Given the description of an element on the screen output the (x, y) to click on. 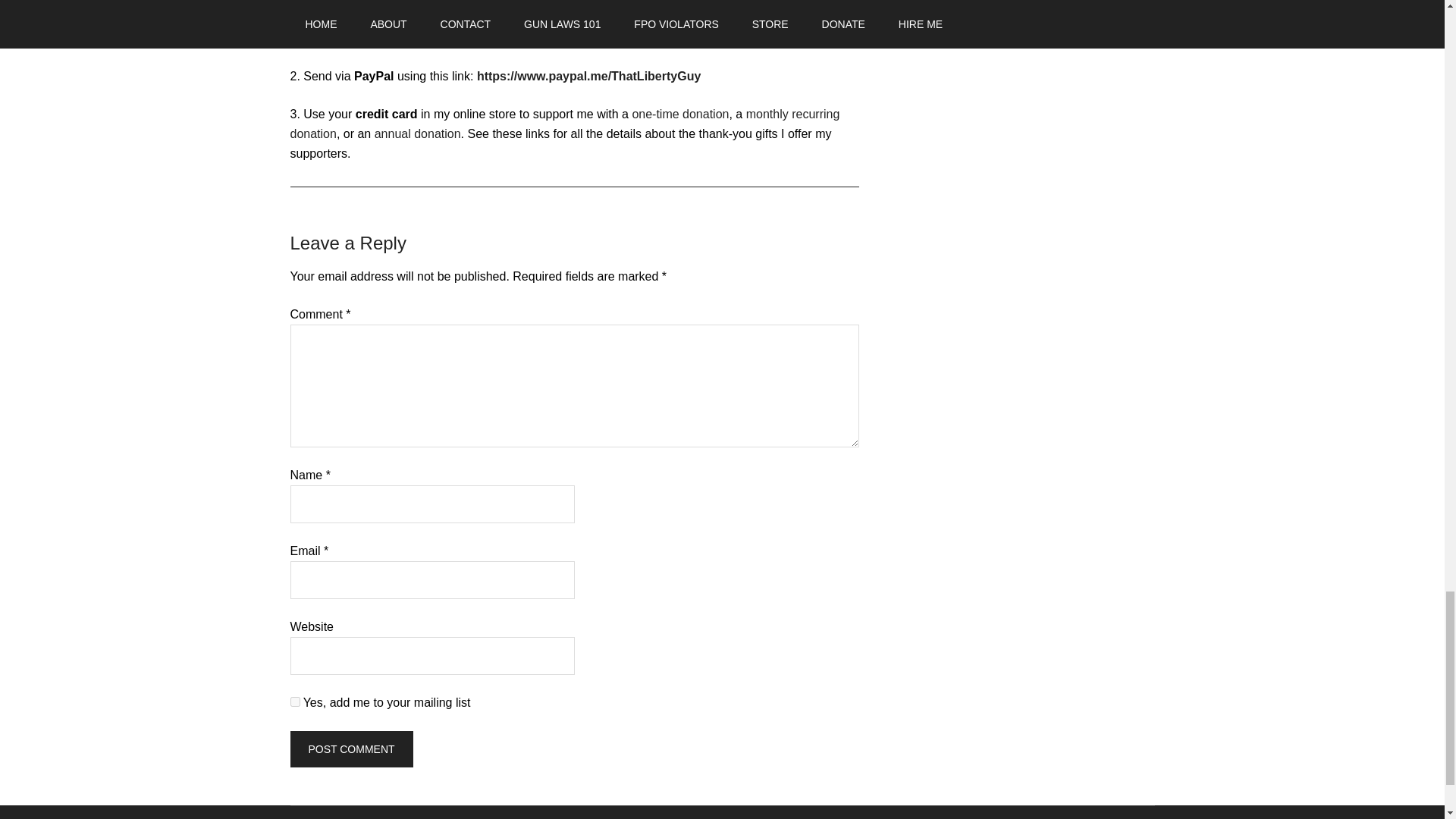
1 (294, 701)
Post Comment (350, 749)
